Given the description of an element on the screen output the (x, y) to click on. 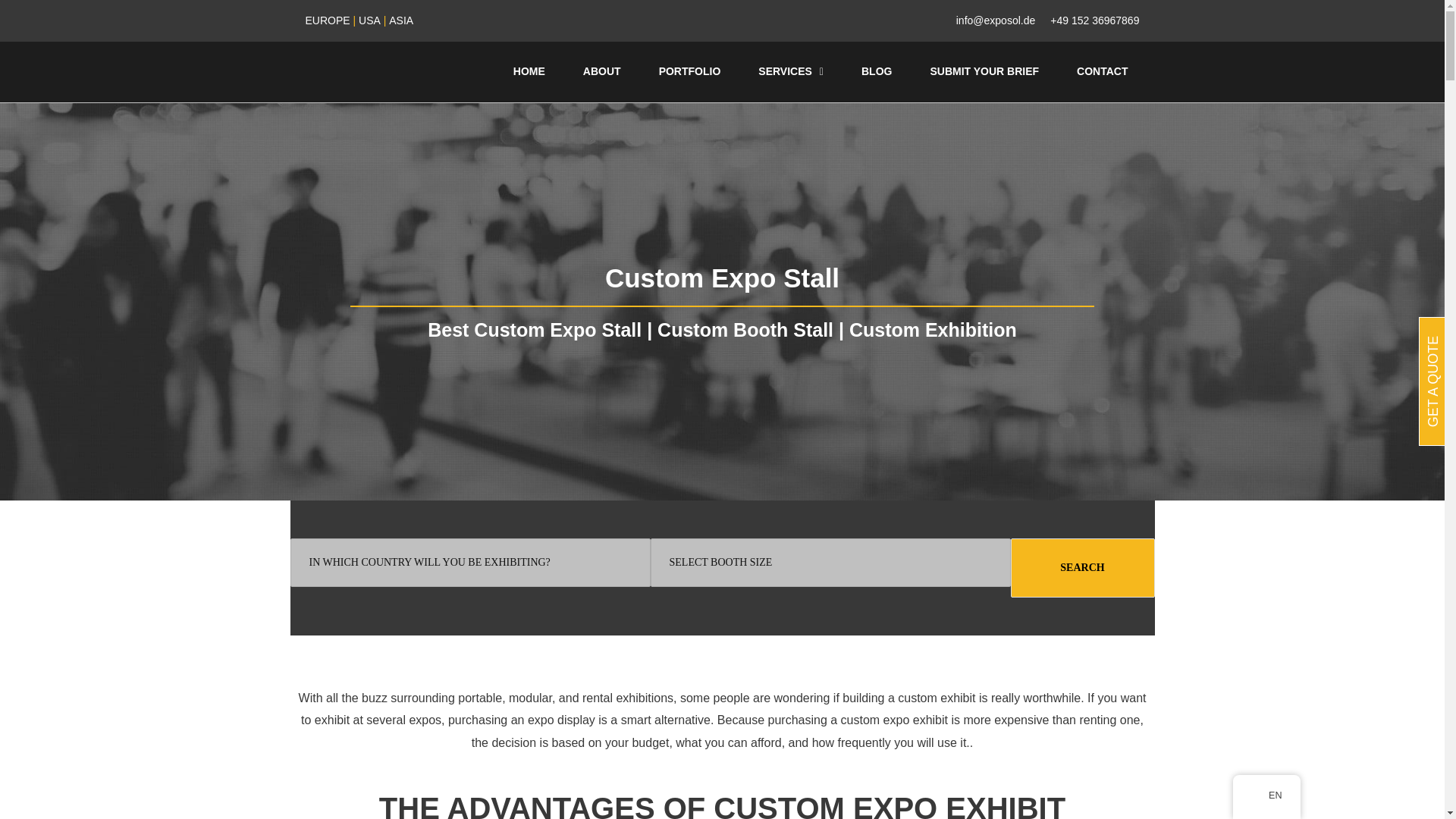
EUROPE (326, 20)
PORTFOLIO (689, 71)
SUBMIT YOUR BRIEF (984, 71)
CONTACT (1102, 71)
ASIA (400, 20)
SEARCH (1082, 567)
ABOUT (602, 71)
USA (369, 20)
BLOG (877, 71)
HOME (529, 71)
SERVICES (791, 71)
